Given the description of an element on the screen output the (x, y) to click on. 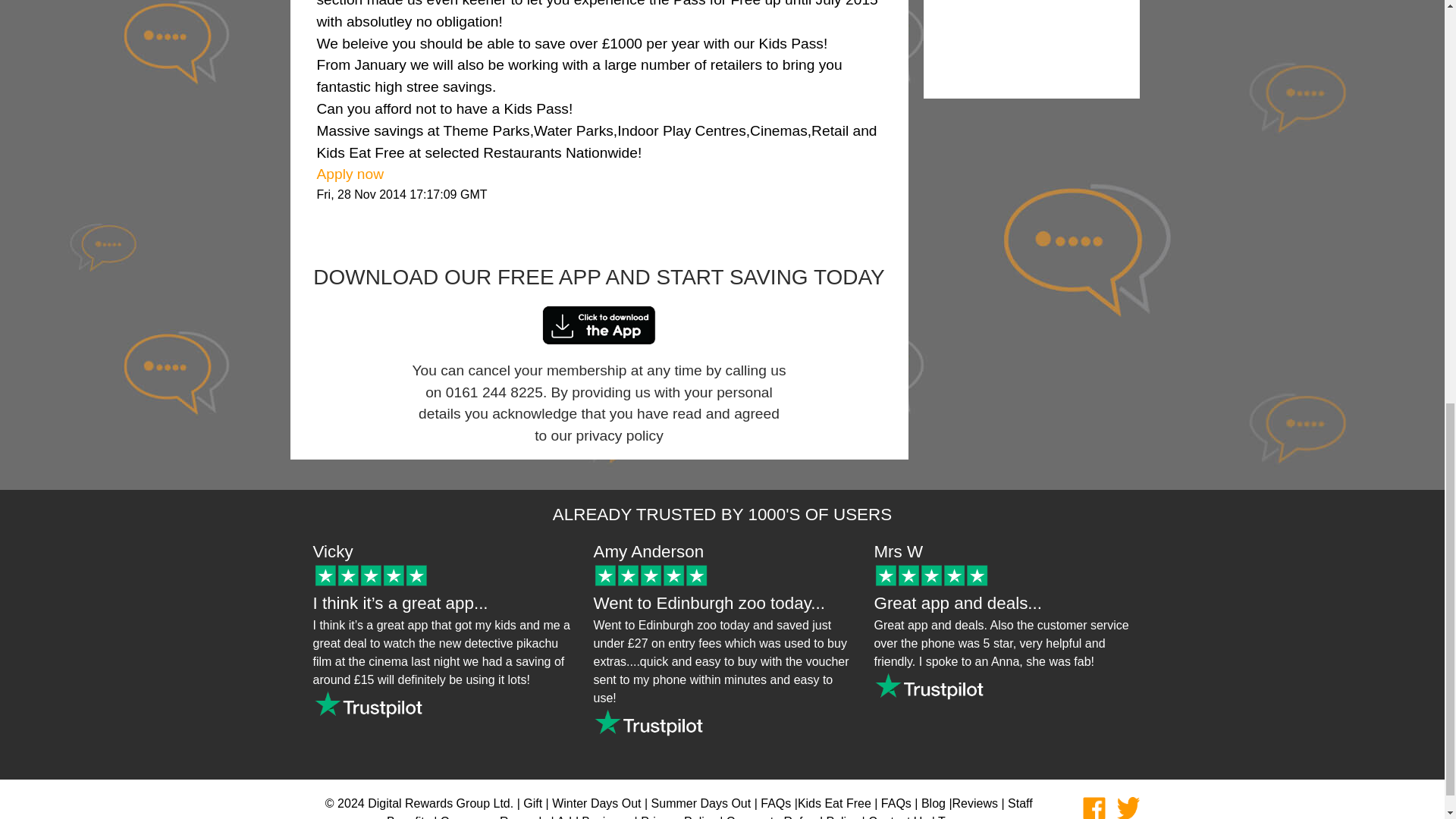
Apply now (350, 173)
Gift (531, 802)
Summer Days Out (700, 802)
Winter Days Out (595, 802)
Digital Rewards Group Ltd. (440, 802)
